Given the description of an element on the screen output the (x, y) to click on. 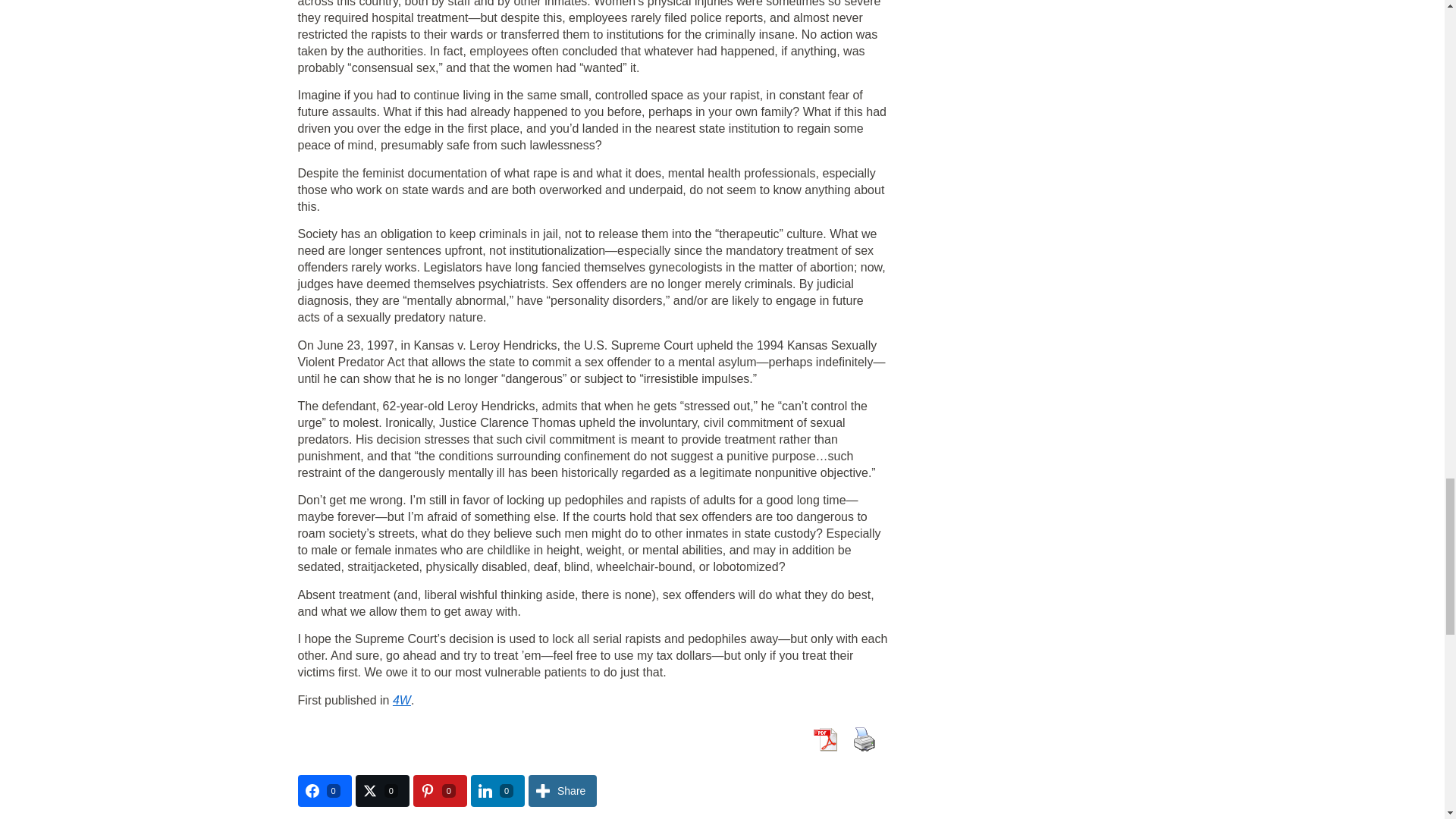
Share on Facebook (323, 790)
0 (440, 790)
0 (323, 790)
4W (401, 698)
Share on Pinterest (440, 790)
Share on Share (562, 790)
Print Content (863, 739)
Share on LinkedIn (497, 790)
View PDF (824, 739)
Share on Twitter (382, 790)
